Given the description of an element on the screen output the (x, y) to click on. 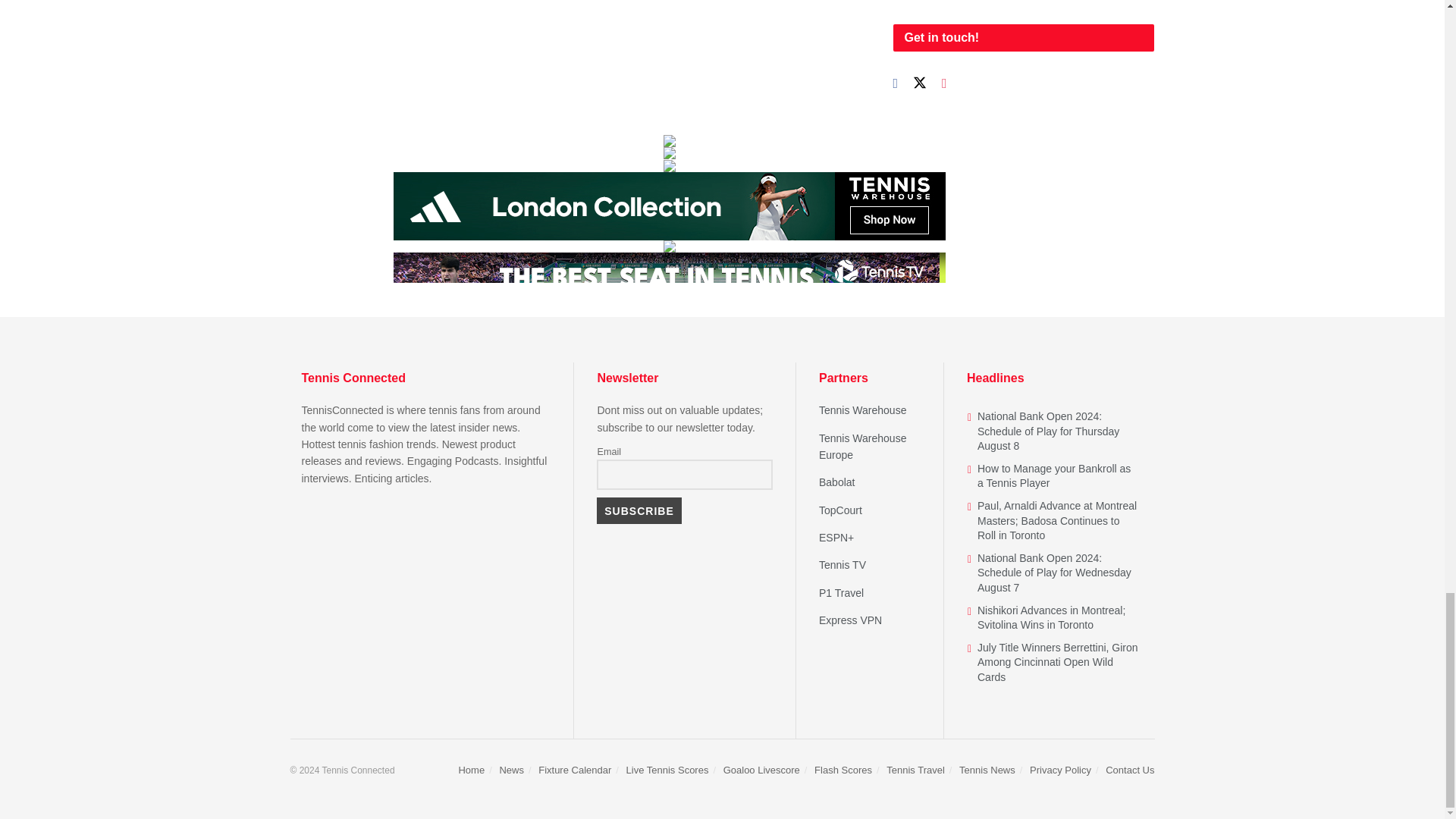
Subscribe (638, 510)
